Given the description of an element on the screen output the (x, y) to click on. 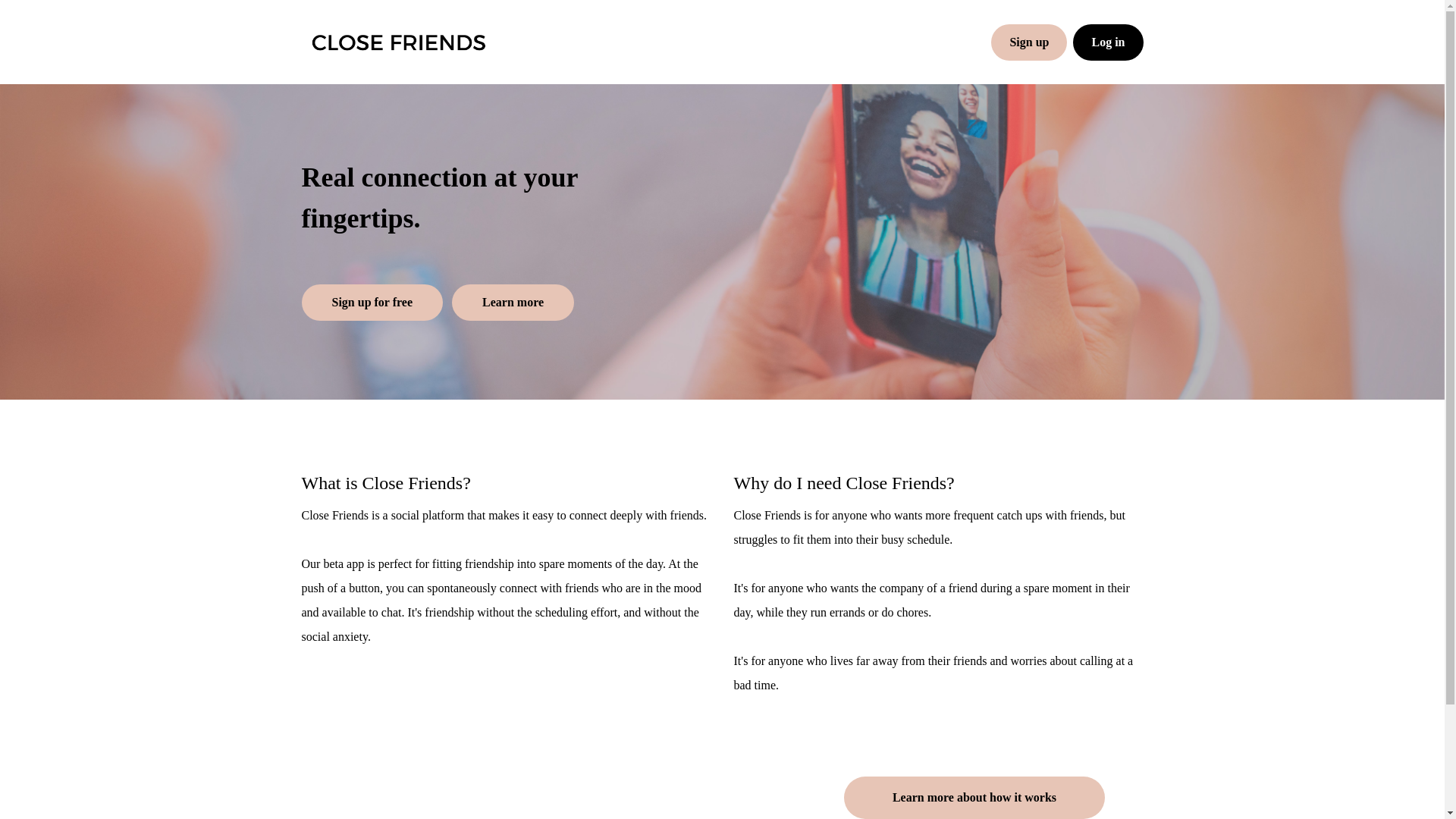
Learn more (512, 302)
Learn more about how it works (974, 797)
Log in (1107, 42)
Sign up (1029, 42)
Sign up for free (372, 302)
